Given the description of an element on the screen output the (x, y) to click on. 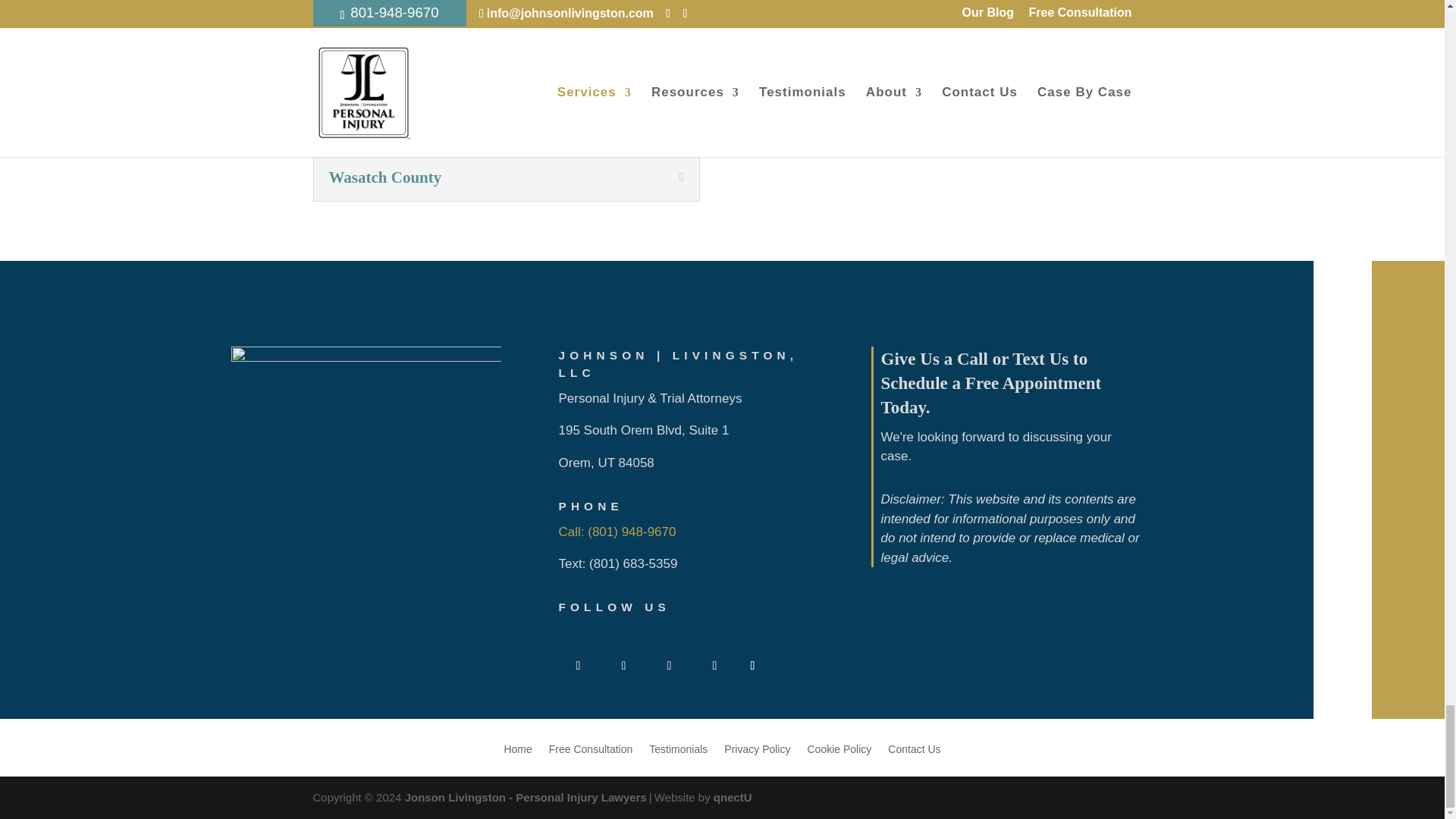
Follow on Pinterest (751, 665)
Follow on google-plus (713, 665)
Follow on X (623, 665)
JL---with-text---white (365, 481)
Follow on Facebook (577, 665)
Follow on Instagram (668, 665)
